Given the description of an element on the screen output the (x, y) to click on. 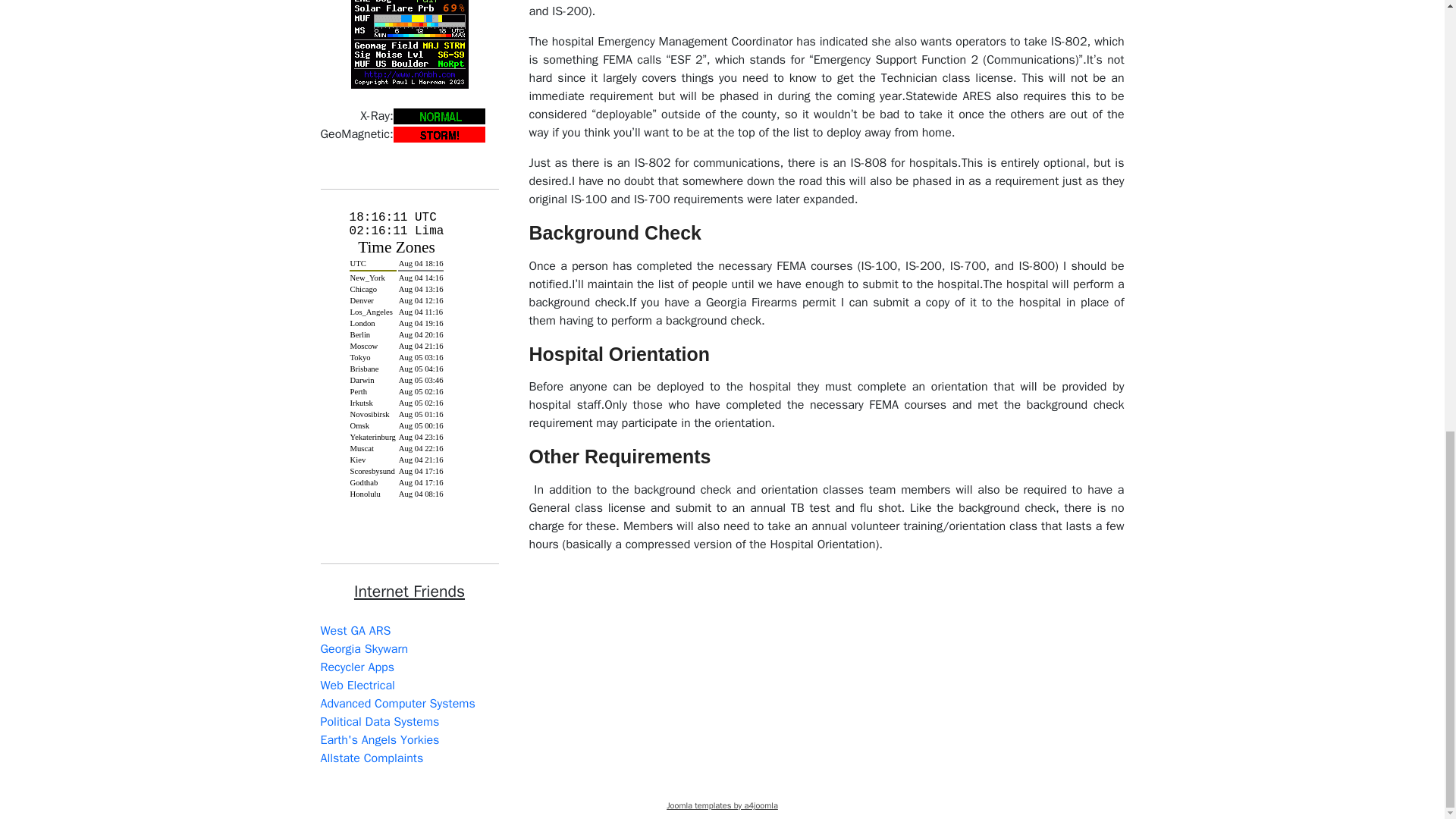
Georgia Skywarn (363, 648)
West GA ARS (355, 630)
Web Electrical (357, 685)
Recycler Apps (356, 667)
Advanced Computer Systems (397, 703)
